Given the description of an element on the screen output the (x, y) to click on. 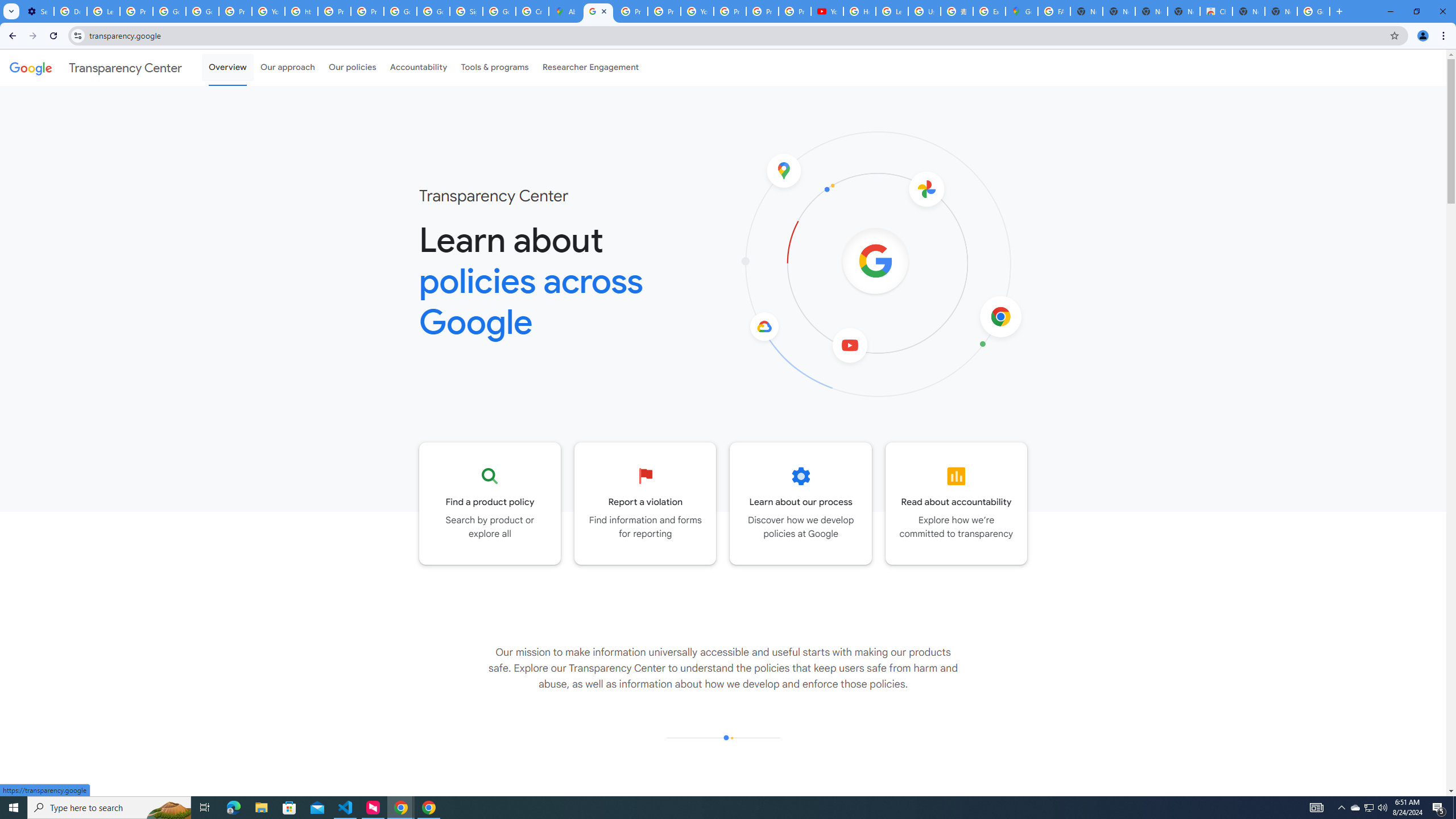
Explore new street-level details - Google Maps Help (989, 11)
Privacy Checkup (762, 11)
Sign in - Google Accounts (465, 11)
Privacy Help Center - Policies Help (334, 11)
Delete photos & videos - Computer - Google Photos Help (70, 11)
Google Maps (1021, 11)
